Given the description of an element on the screen output the (x, y) to click on. 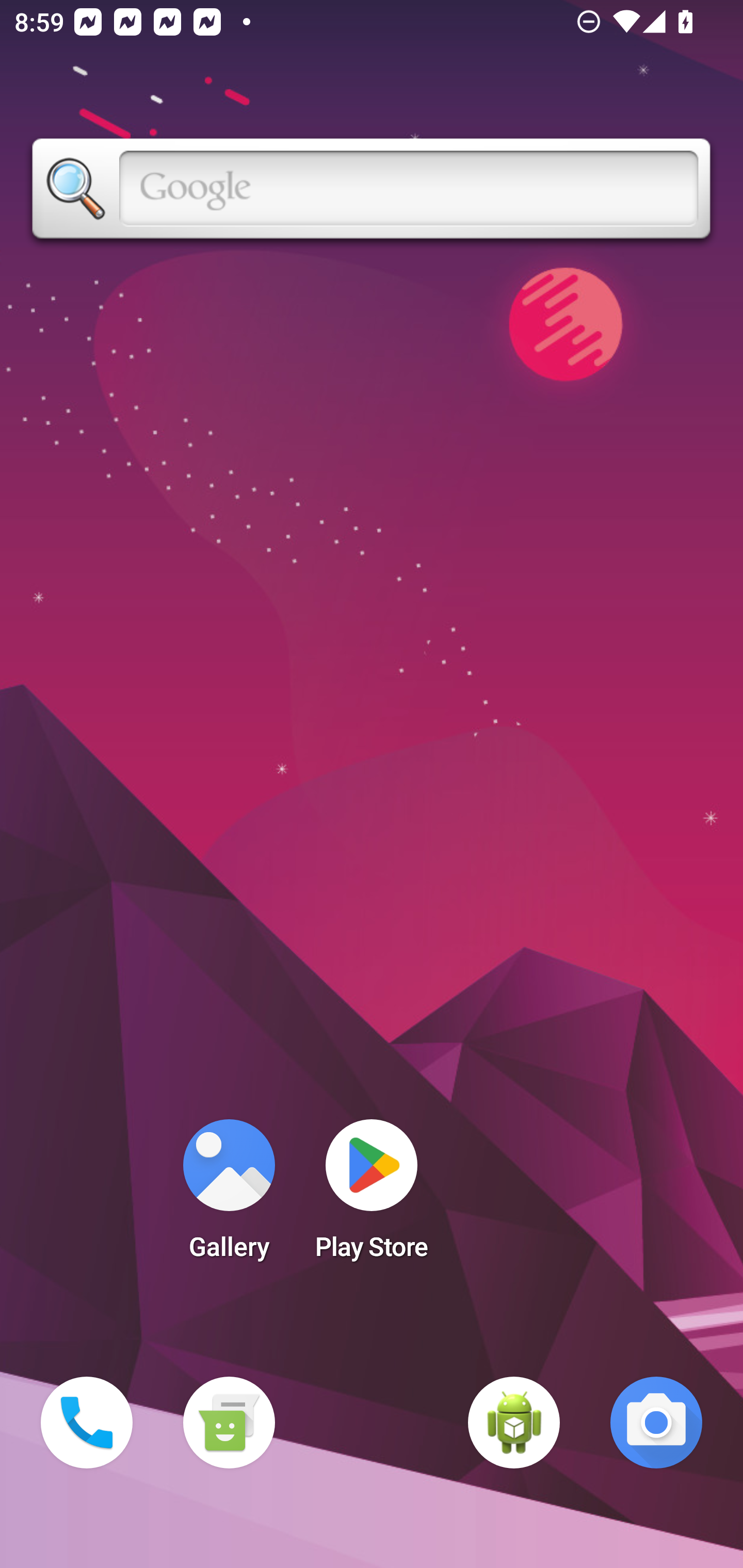
Gallery (228, 1195)
Play Store (371, 1195)
Phone (86, 1422)
Messaging (228, 1422)
WebView Browser Tester (513, 1422)
Camera (656, 1422)
